Given the description of an element on the screen output the (x, y) to click on. 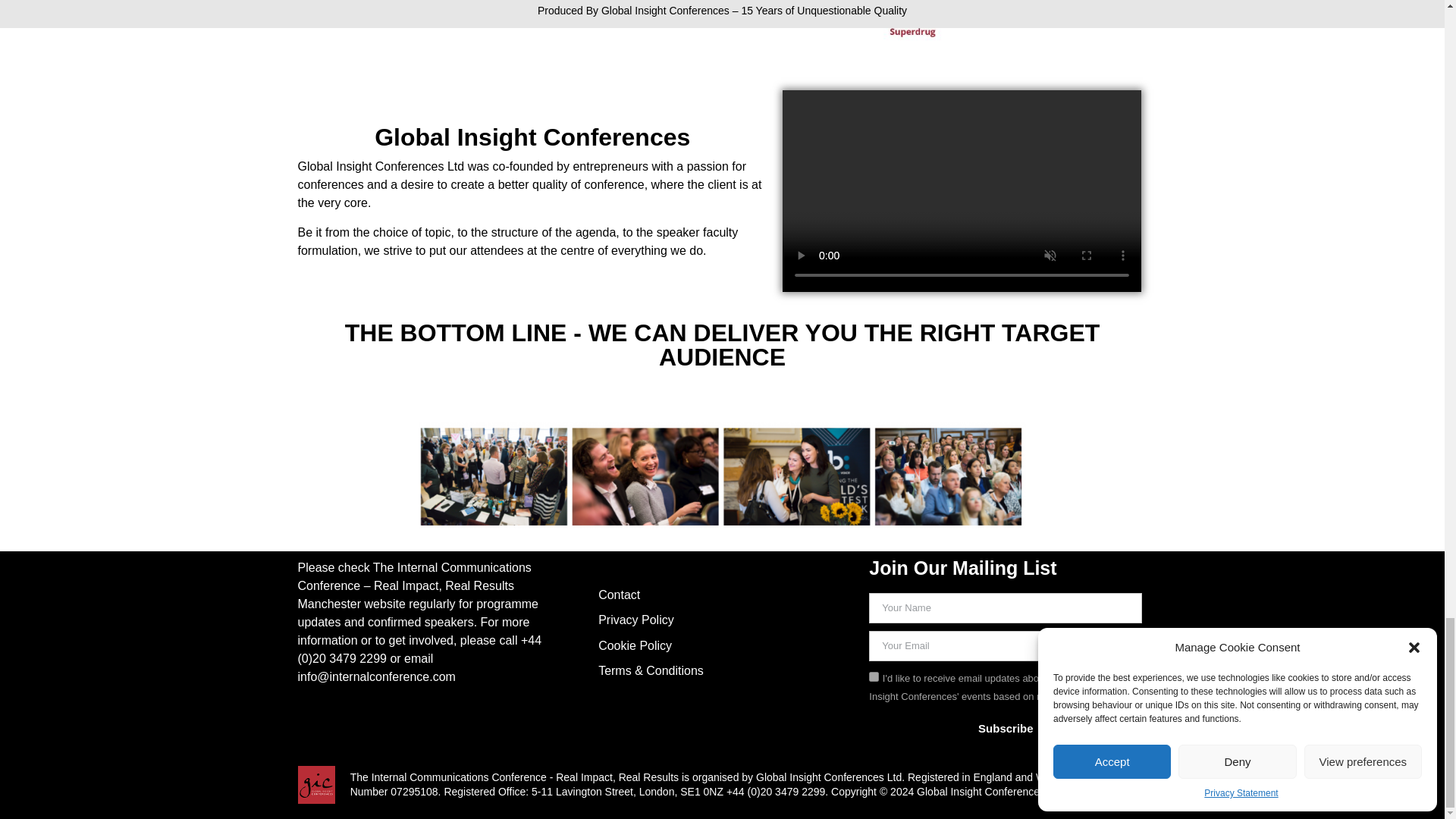
on (874, 676)
